Given the description of an element on the screen output the (x, y) to click on. 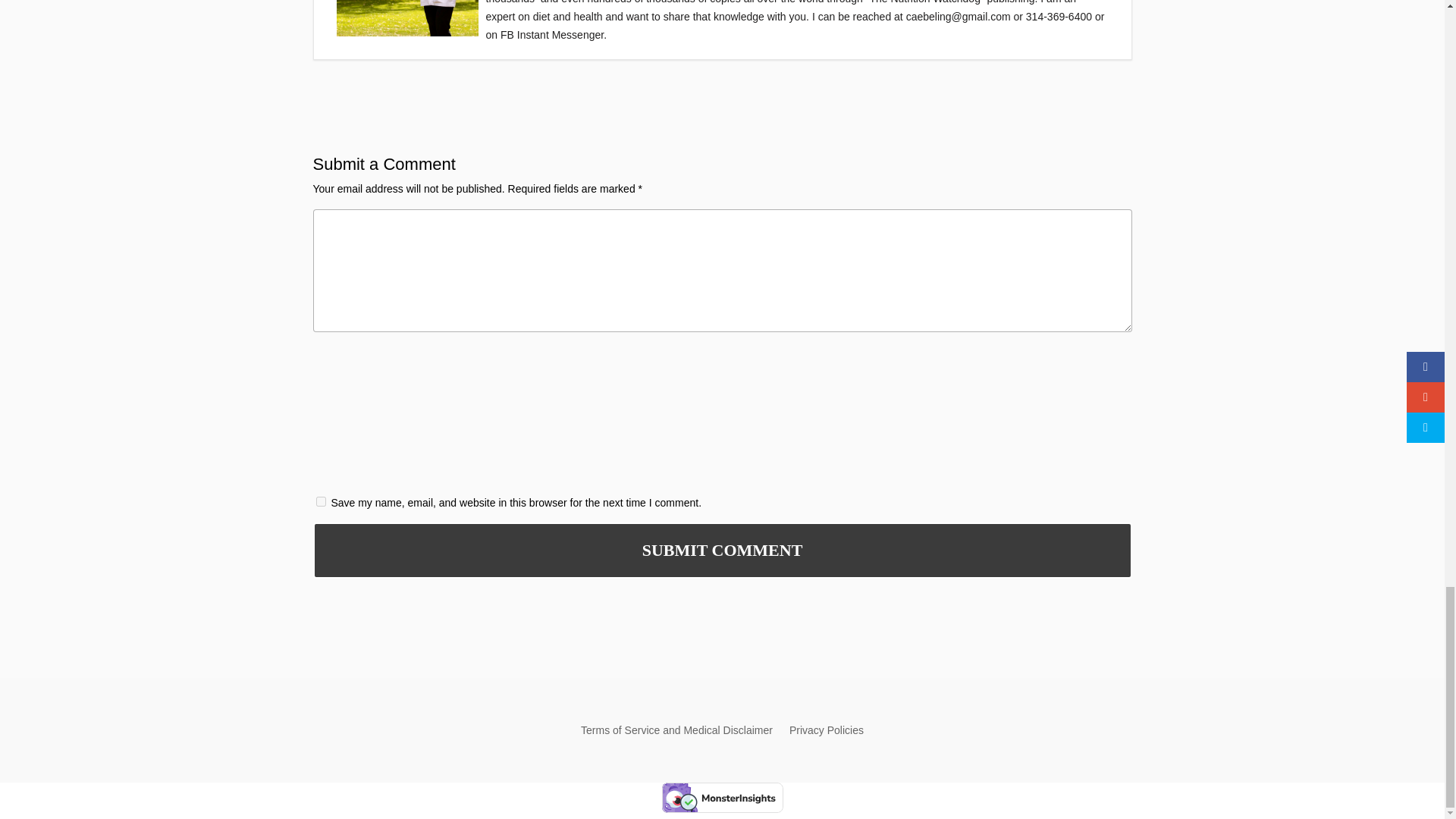
SUBMIT COMMENT (722, 550)
Verified by MonsterInsights (722, 797)
Privacy Policies (826, 733)
yes (319, 501)
Terms of Service and Medical Disclaimer (676, 733)
